Given the description of an element on the screen output the (x, y) to click on. 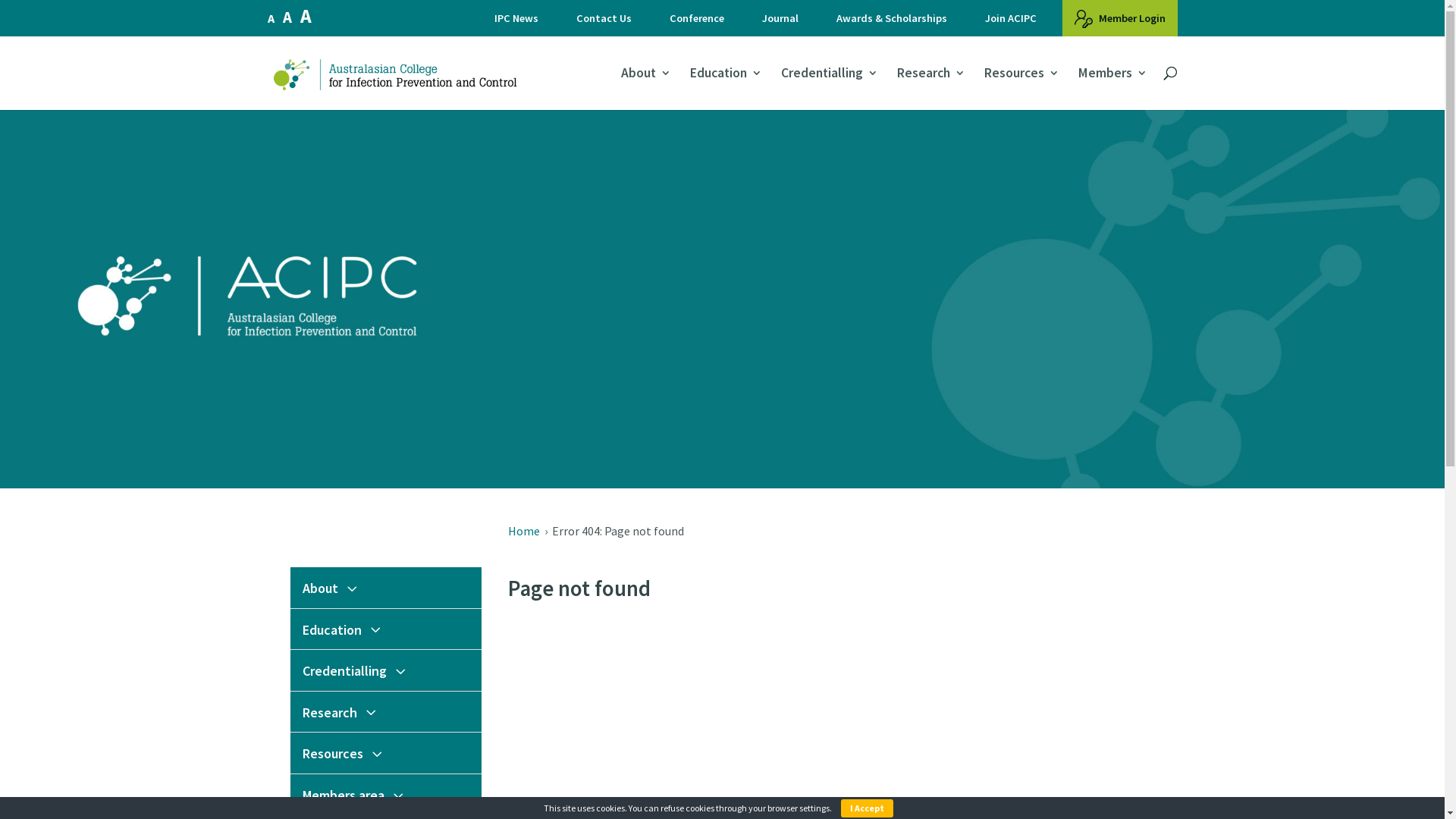
Awards & Scholarships Element type: text (890, 22)
Resources Element type: text (384, 752)
Member Login Element type: text (1118, 18)
Research Element type: text (384, 711)
About Element type: text (384, 587)
A
Reset font size. Element type: text (286, 17)
A
Increase font size. Element type: text (305, 15)
Contact Us Element type: text (603, 22)
Education Element type: text (726, 87)
Education Element type: text (384, 629)
I Accept Element type: text (866, 808)
About Element type: text (645, 87)
Credentialling Element type: text (384, 670)
IPC News Element type: text (516, 22)
A
Decrease font size. Element type: text (269, 17)
Members Element type: text (1112, 87)
Conference Element type: text (695, 22)
Join ACIPC Element type: text (1010, 22)
MicrosoftTeams-image (1) Element type: hover (722, 302)
Research Element type: text (930, 87)
Journal Element type: text (779, 22)
Members area Element type: text (384, 794)
Resources Element type: text (1021, 87)
Home Element type: text (523, 530)
Credentialling Element type: text (829, 87)
